Given the description of an element on the screen output the (x, y) to click on. 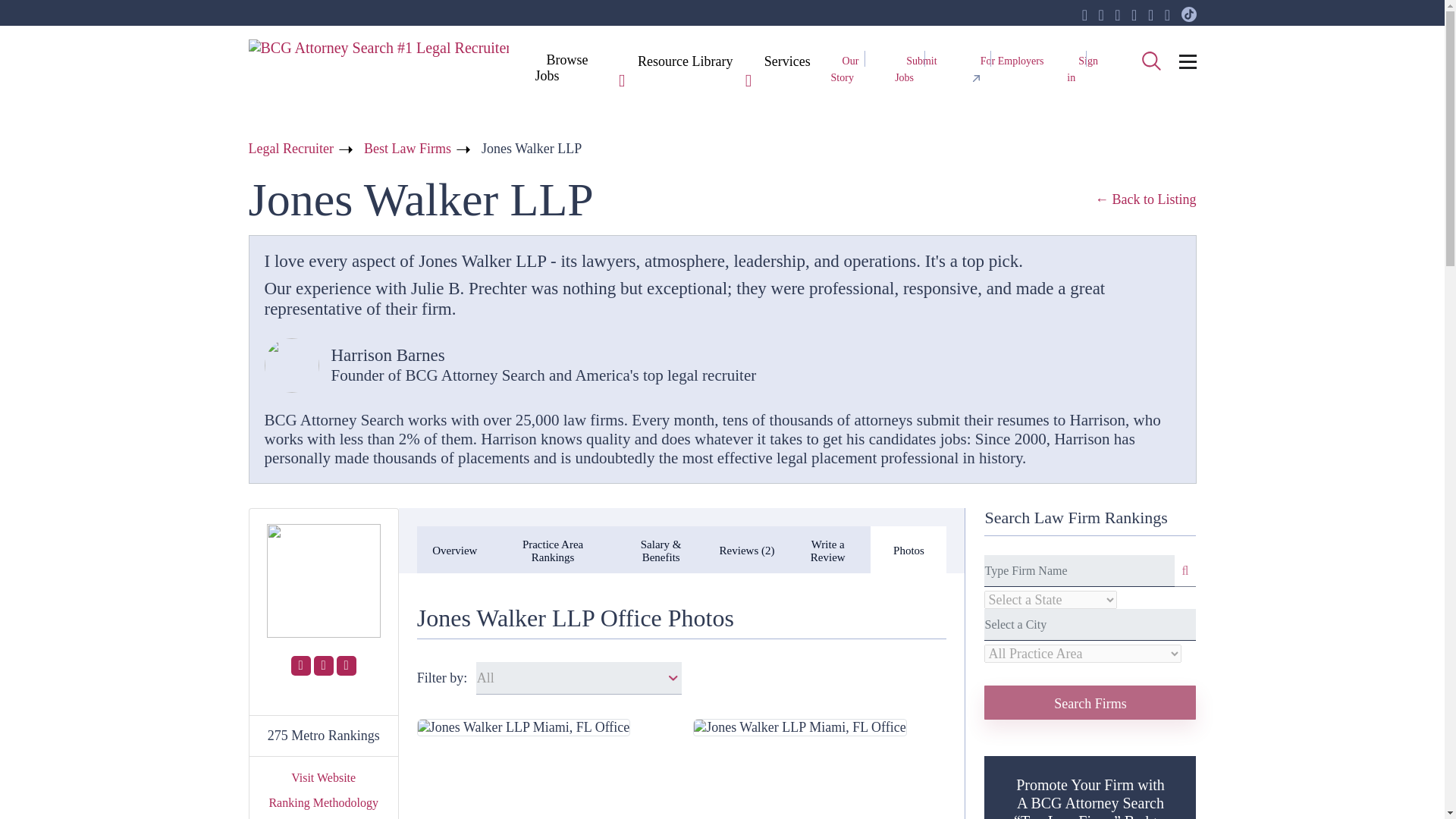
Resource Library (685, 62)
BCG Attorney Search Tiktok (1188, 14)
Services (787, 62)
Browse Jobs (561, 67)
